Given the description of an element on the screen output the (x, y) to click on. 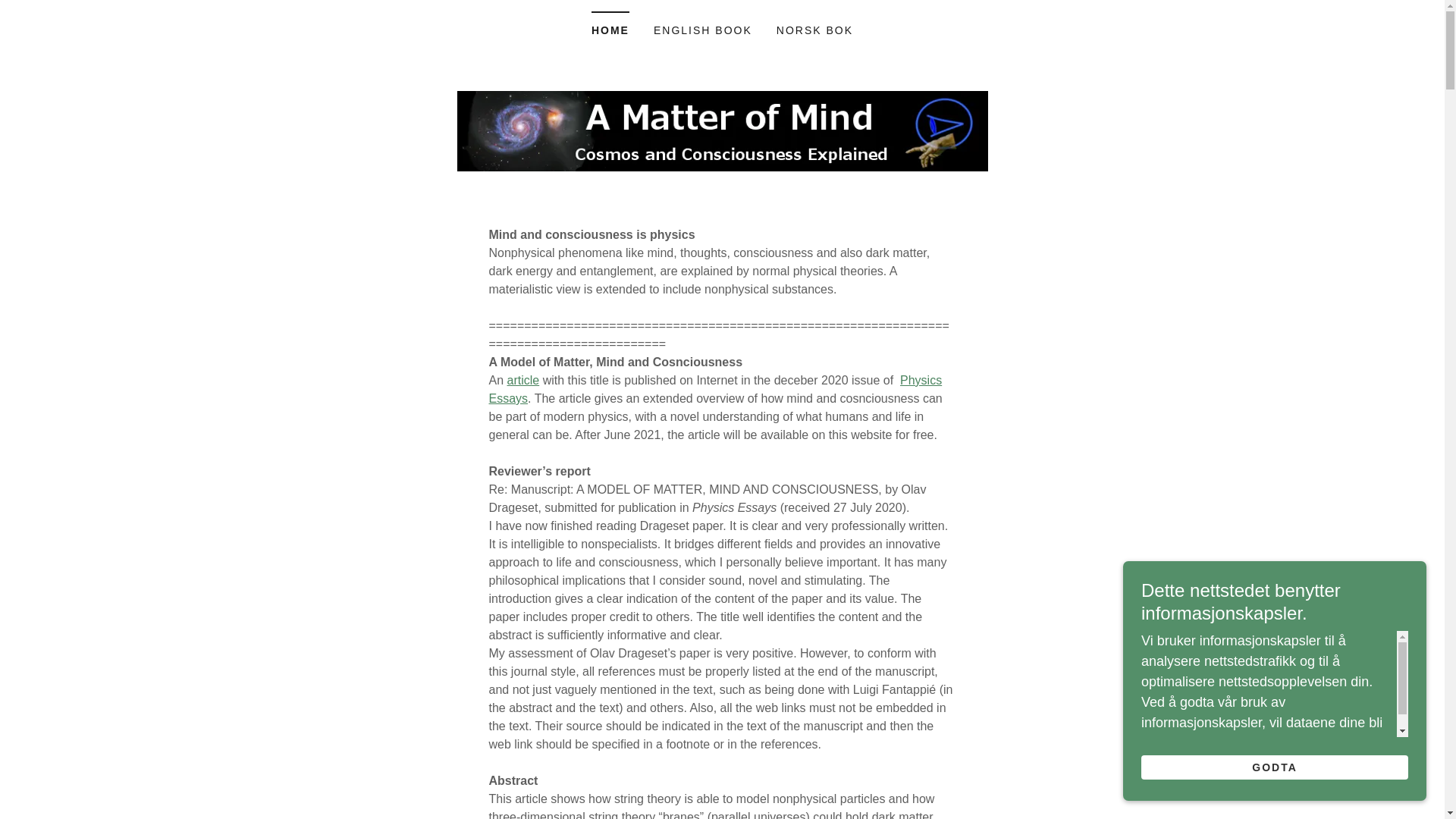
Physics Essays (714, 388)
article (523, 379)
NORSK BOK (814, 30)
ENGLISH BOOK (703, 30)
HOME (609, 25)
